Given the description of an element on the screen output the (x, y) to click on. 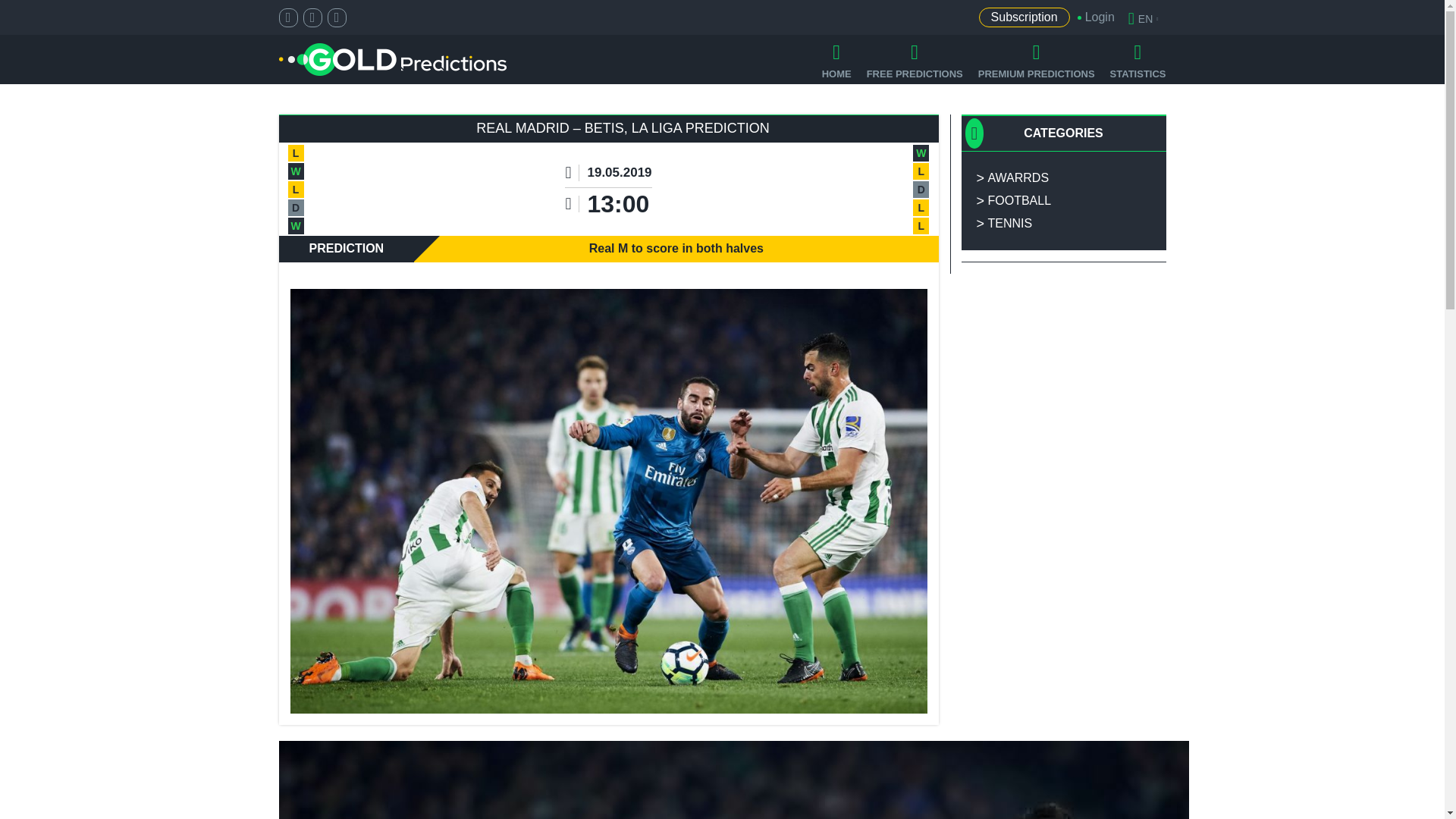
TENNIS (1063, 223)
Login (1092, 17)
FREE PREDICTIONS (914, 59)
STATISTICS (1137, 59)
PREMIUM PREDICTIONS (1036, 59)
Real-Madrid-Betis (734, 780)
FOOTBALL (1063, 200)
AWARRDS (1063, 178)
Subscription (1024, 17)
